Given the description of an element on the screen output the (x, y) to click on. 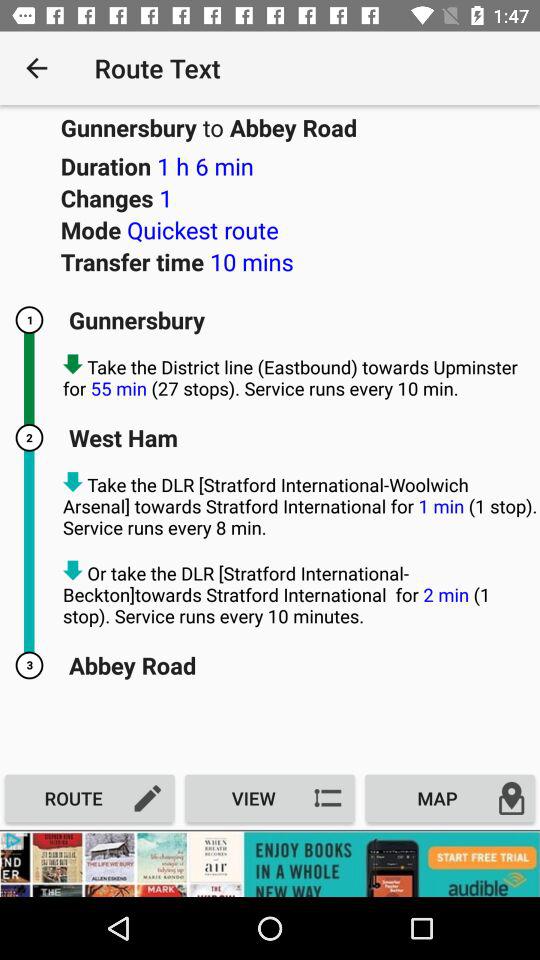
click on the option beside view (450, 798)
click on the option which is beside route (269, 798)
